Given the description of an element on the screen output the (x, y) to click on. 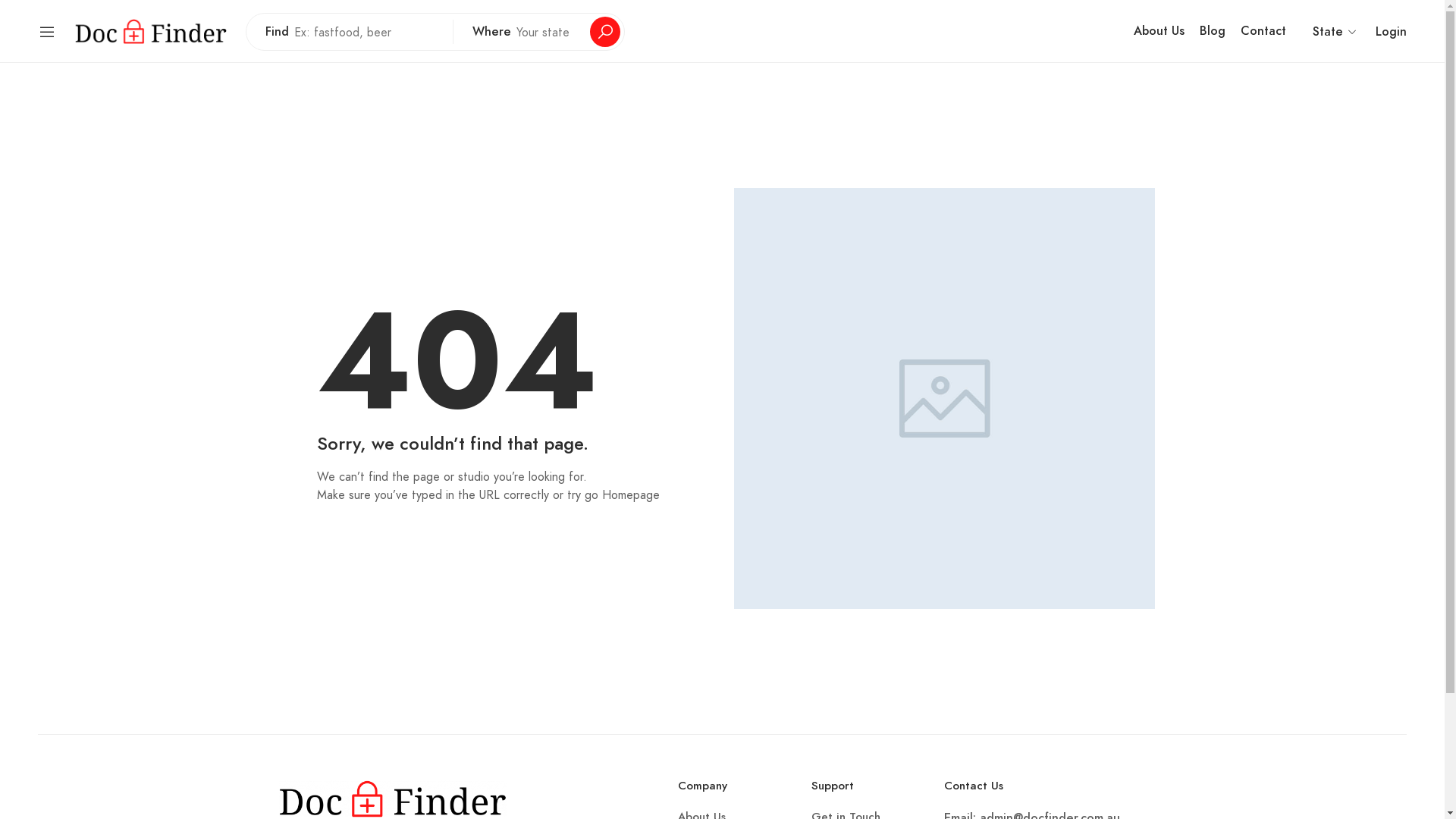
About Us Element type: text (1159, 31)
Contact Element type: text (1263, 31)
Blog Element type: text (1212, 31)
Doctor Finder Element type: hover (150, 29)
Login Element type: text (1390, 31)
Sign in Element type: text (721, 322)
